Given the description of an element on the screen output the (x, y) to click on. 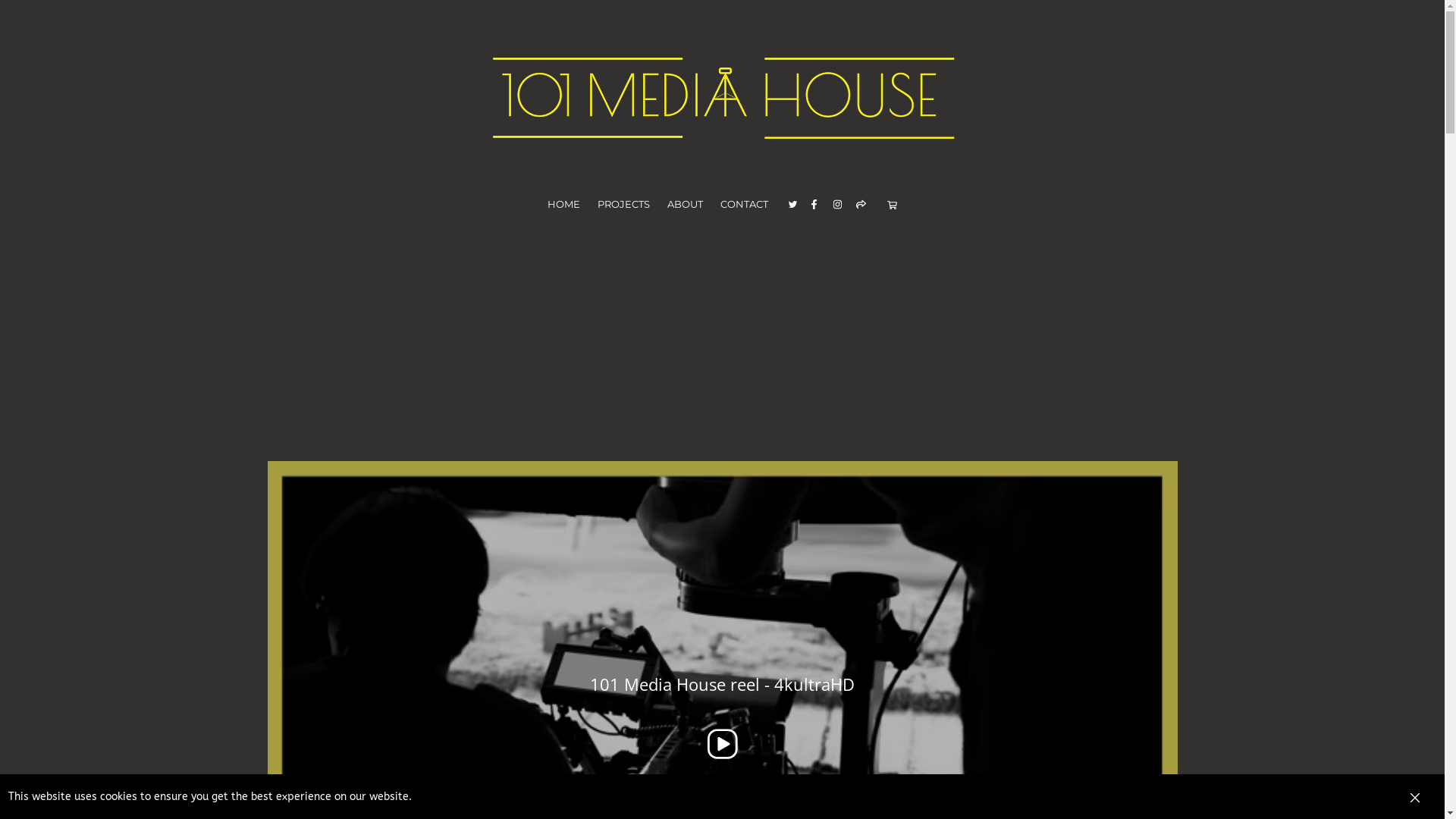
101 Media House reel - 4kultraHD Element type: text (721, 716)
CONTACT Element type: text (744, 204)
PROJECTS Element type: text (624, 204)
HOME Element type: text (563, 204)
ABOUT Element type: text (685, 204)
